Given the description of an element on the screen output the (x, y) to click on. 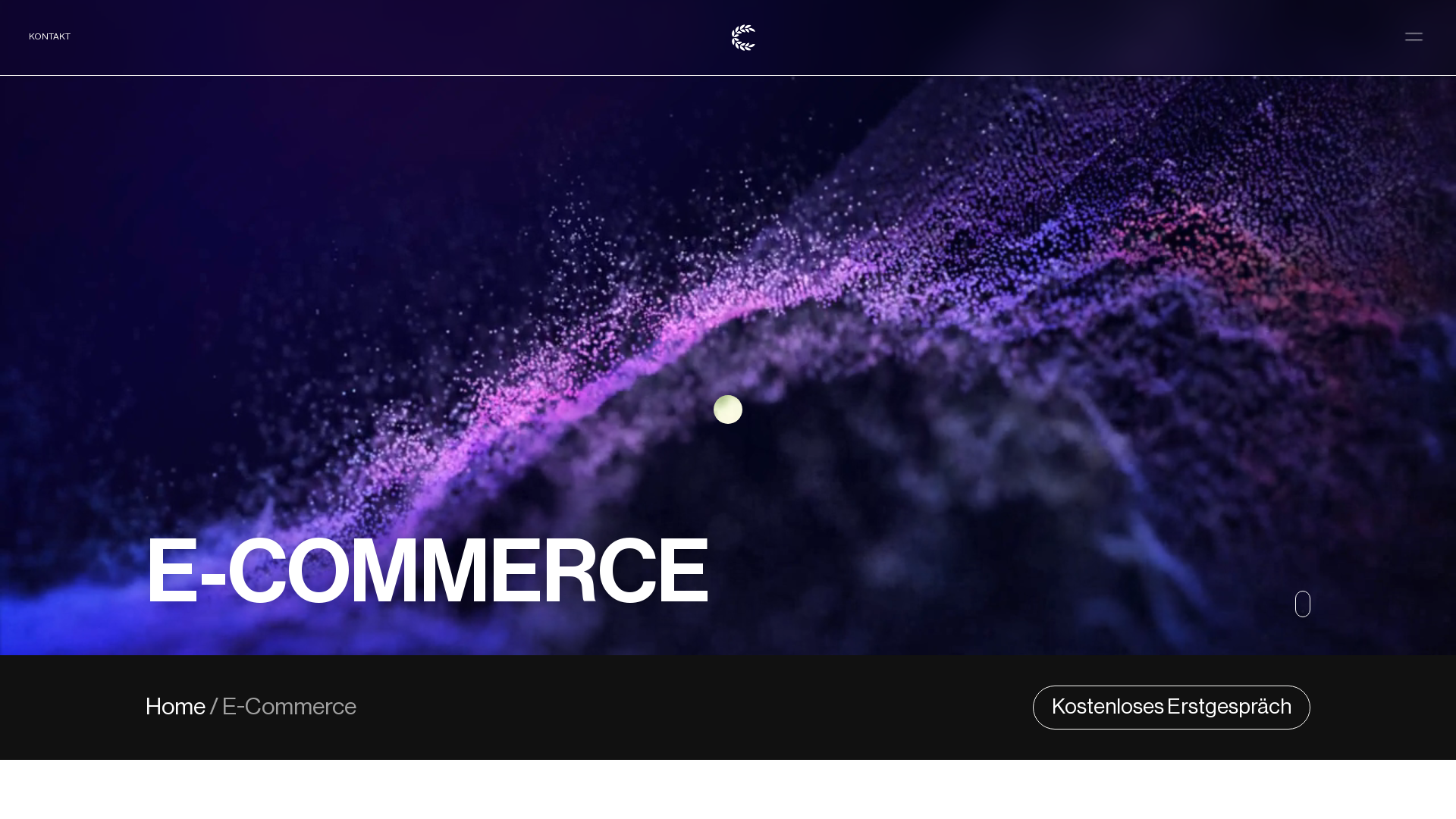
KONTAKT Element type: text (49, 37)
Home Element type: text (177, 707)
